Given the description of an element on the screen output the (x, y) to click on. 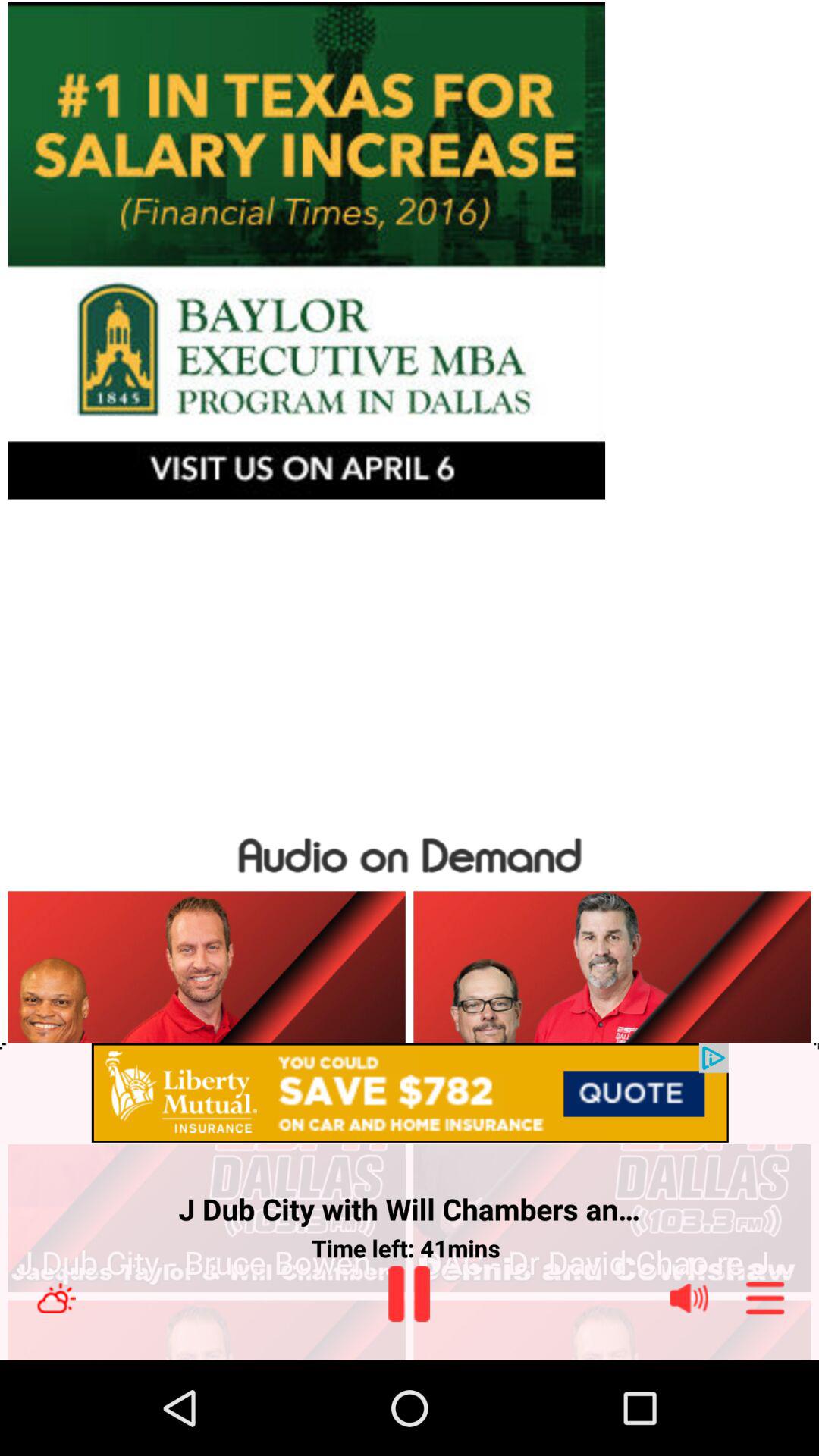
swipe until the dac dr david app (612, 1262)
